Given the description of an element on the screen output the (x, y) to click on. 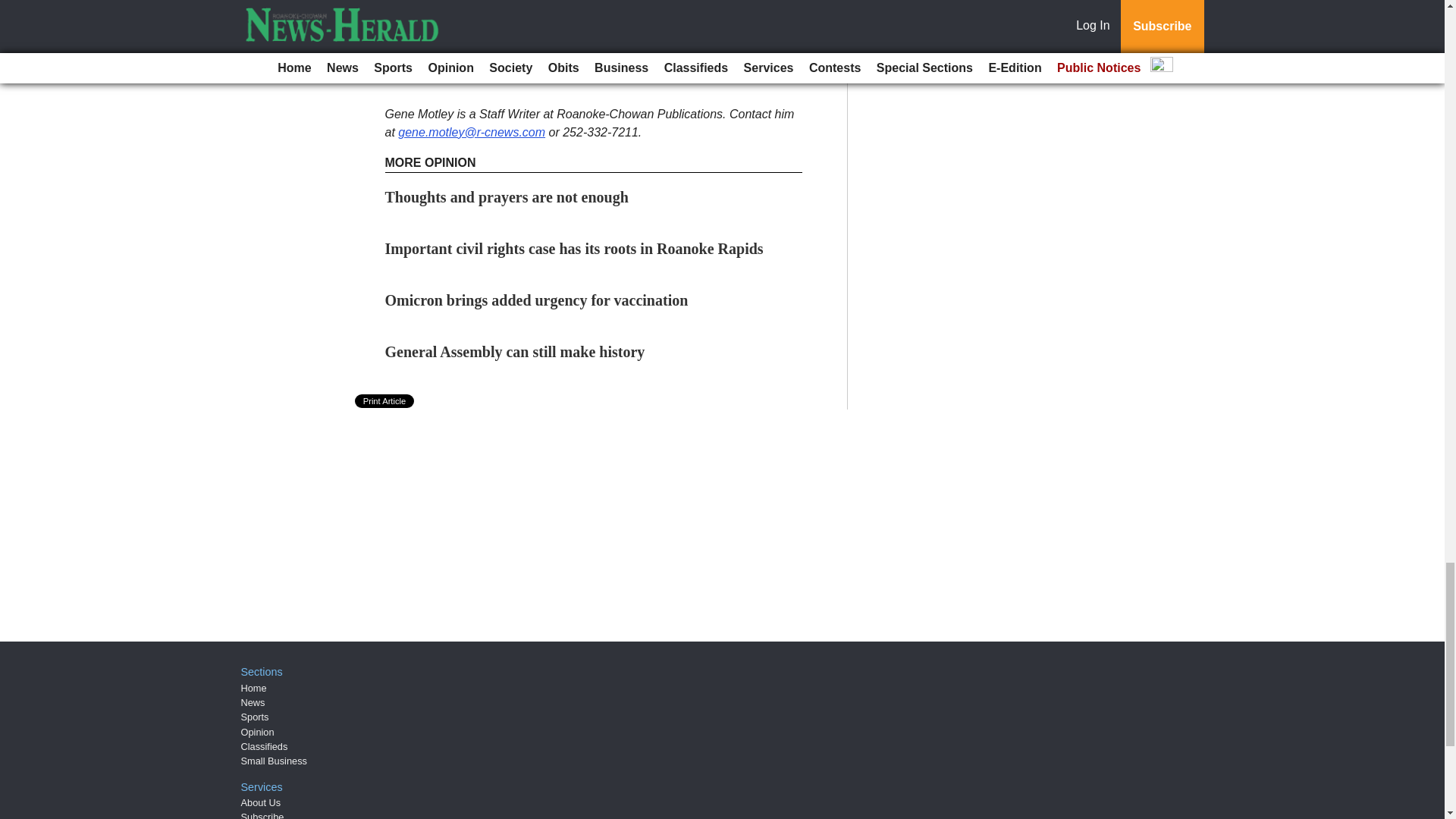
Omicron brings added urgency for vaccination (536, 299)
Omicron brings added urgency for vaccination (536, 299)
Thoughts and prayers are not enough (506, 197)
General Assembly can still make history (515, 351)
Important civil rights case has its roots in Roanoke Rapids (573, 248)
Important civil rights case has its roots in Roanoke Rapids (573, 248)
Thoughts and prayers are not enough (506, 197)
Print Article (384, 400)
General Assembly can still make history (515, 351)
